Given the description of an element on the screen output the (x, y) to click on. 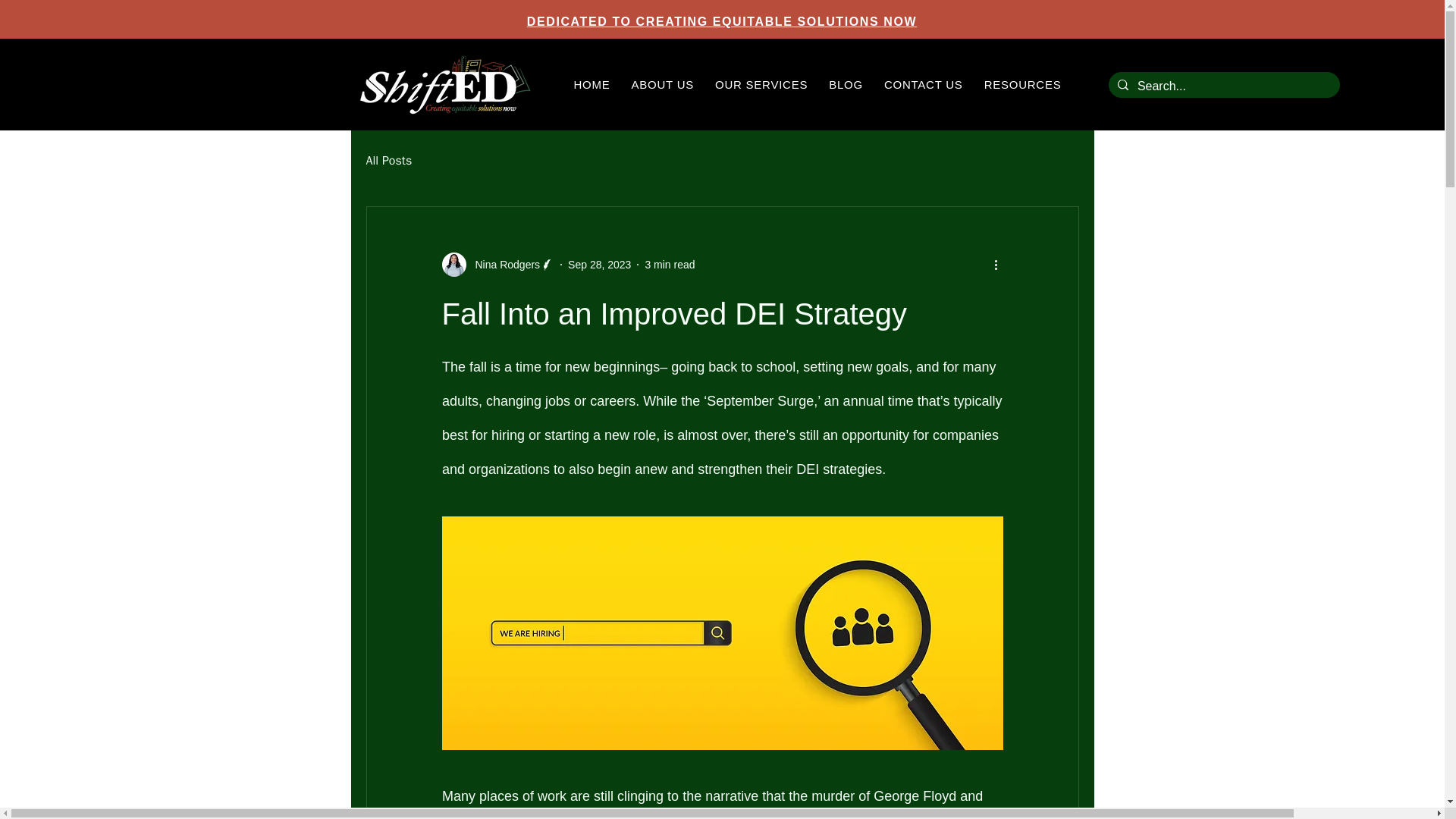
CONTACT US (923, 84)
OUR SERVICES (761, 84)
3 min read (669, 264)
ABOUT US (662, 84)
All Posts (388, 160)
Nina Rodgers (497, 264)
Nina Rodgers (502, 264)
BLOG (845, 84)
HOME (591, 84)
Sep 28, 2023 (598, 264)
